Given the description of an element on the screen output the (x, y) to click on. 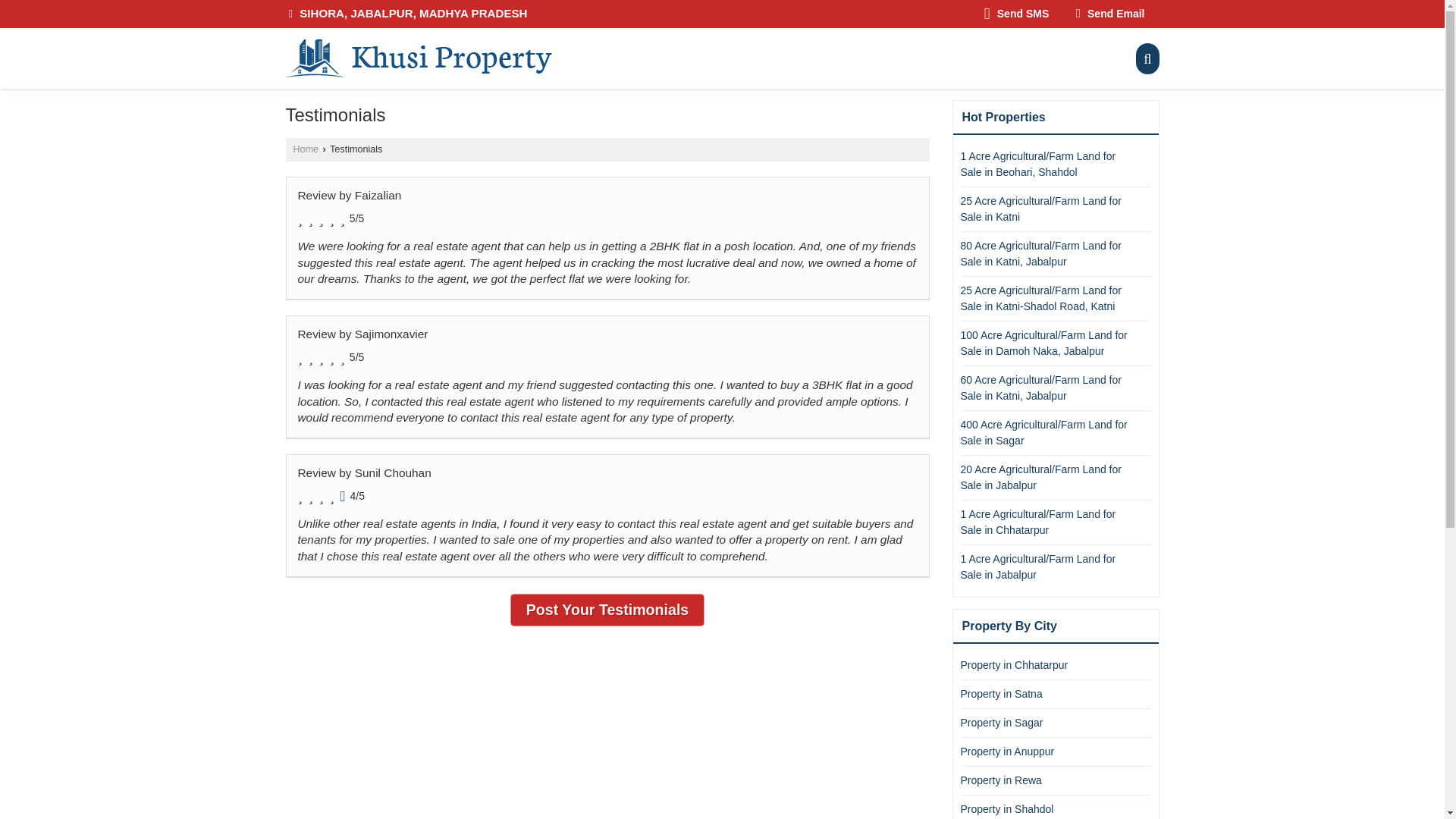
Send SMS (1015, 14)
Home (305, 149)
Send Email (1110, 14)
Khusi Property (419, 57)
